Given the description of an element on the screen output the (x, y) to click on. 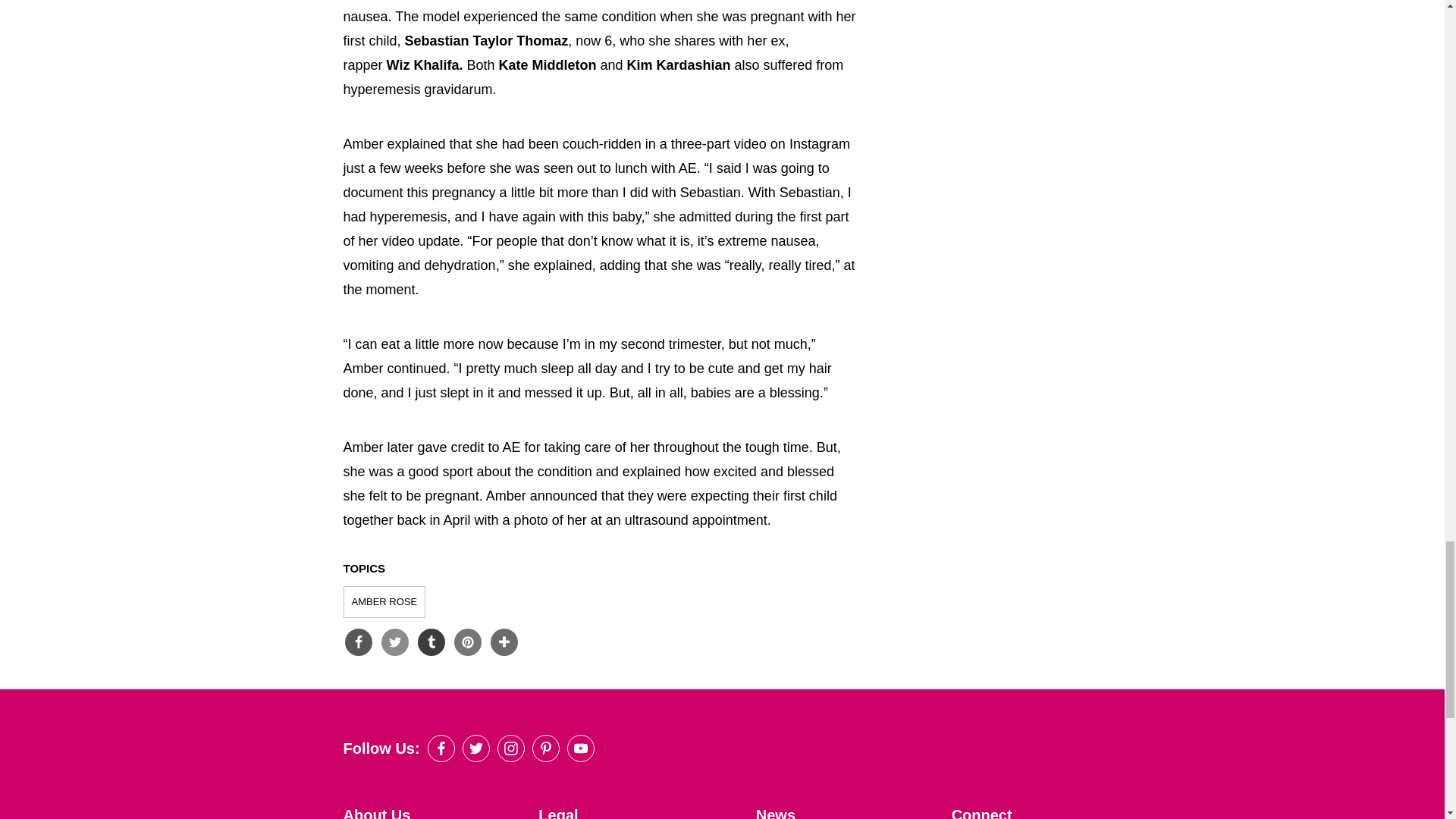
Tweet (393, 642)
Post to Tumblr (430, 642)
Share on Facebook (357, 642)
More Share Options (502, 642)
Pin it (466, 642)
